Given the description of an element on the screen output the (x, y) to click on. 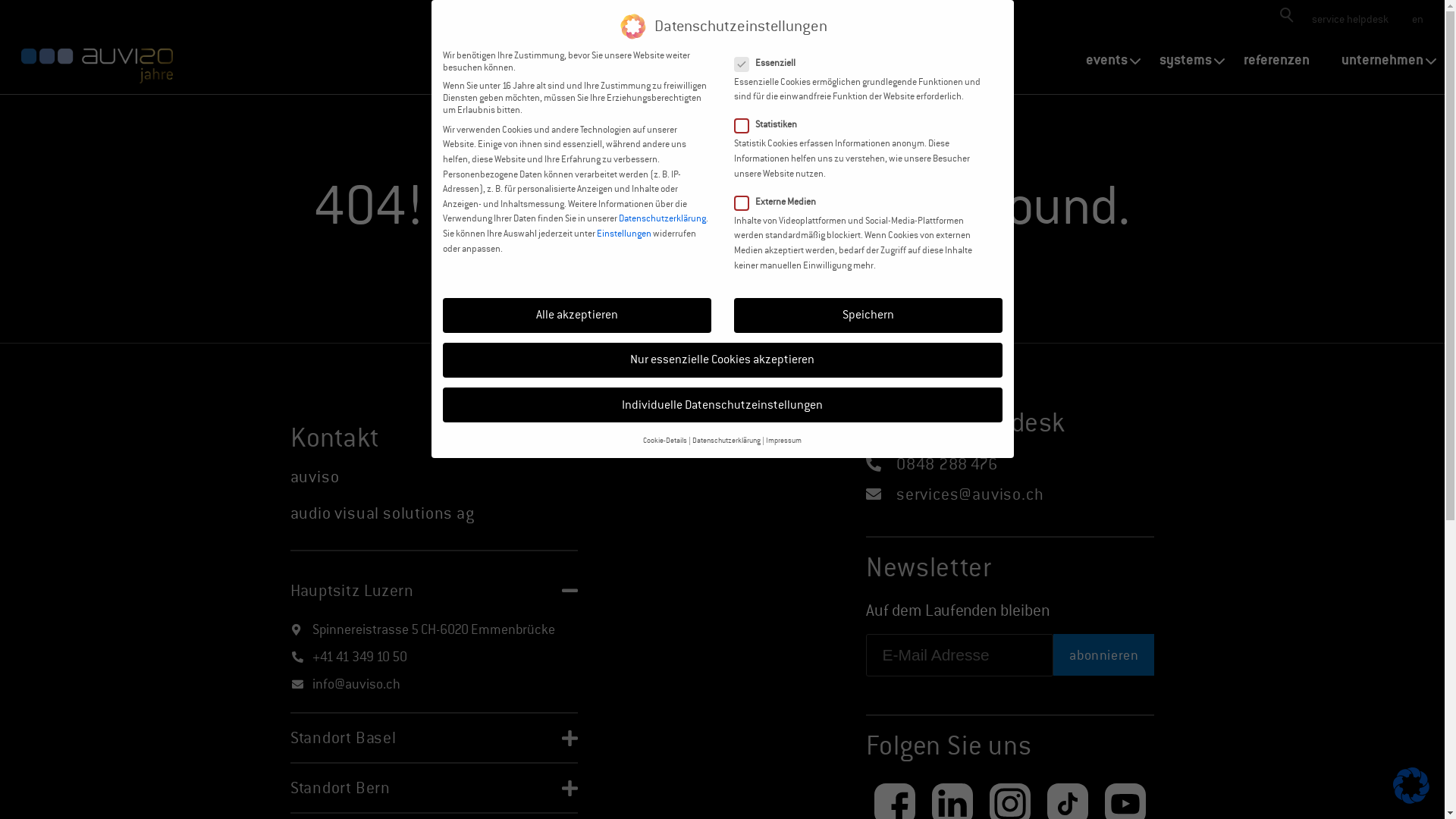
Cookie-Details Element type: text (665, 440)
0848 288 476 Element type: text (944, 463)
Individuelle Datenschutzeinstellungen Element type: text (722, 404)
systems Element type: text (1185, 59)
en Element type: text (1416, 18)
unternehmen Element type: text (1382, 59)
Standort Bern Element type: text (339, 787)
Einstellungen Element type: text (623, 233)
Nur essenzielle Cookies akzeptieren Element type: text (722, 359)
referenzen Element type: text (1276, 59)
Hauptsitz Luzern Element type: text (351, 590)
Impressum Element type: text (783, 440)
Speichern Element type: text (868, 315)
services@auviso.ch Element type: text (967, 494)
abonnieren Element type: text (1103, 654)
Open Cookie Preferences Element type: hover (1411, 798)
service helpdesk Element type: text (1349, 18)
Standort Basel Element type: text (342, 737)
Alle akzeptieren Element type: text (576, 315)
info@auviso.ch Element type: text (356, 683)
+41 41 349 10 50 Element type: text (359, 656)
events Element type: text (1106, 59)
